Given the description of an element on the screen output the (x, y) to click on. 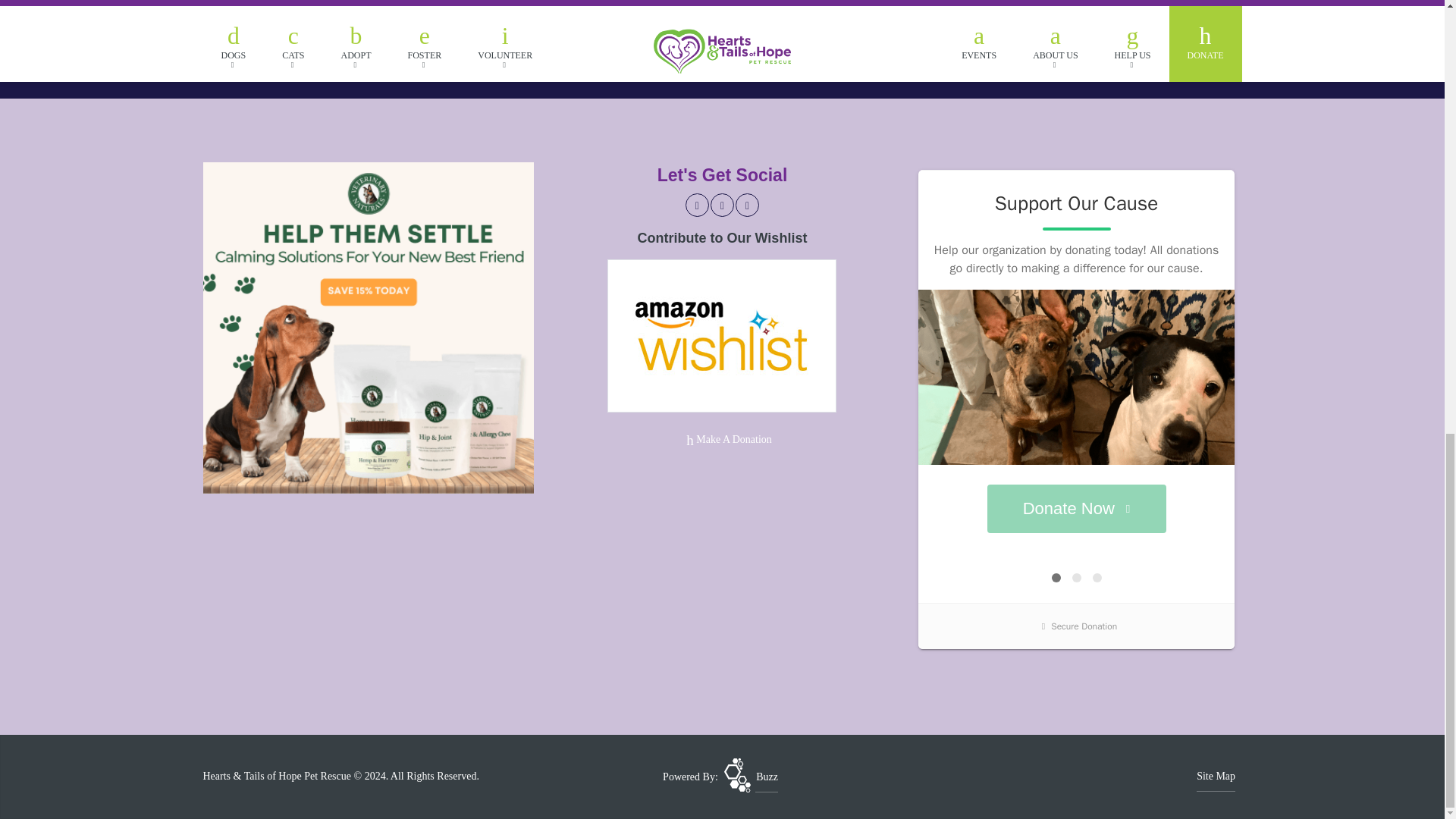
Follow Us on Facebook (697, 205)
Follow Us on Youtube (722, 205)
Submit (771, 39)
Amazon Wishlist (721, 334)
Follow Us on Instagram (747, 205)
Rescue Your Rescues (750, 776)
Submit (771, 39)
